Given the description of an element on the screen output the (x, y) to click on. 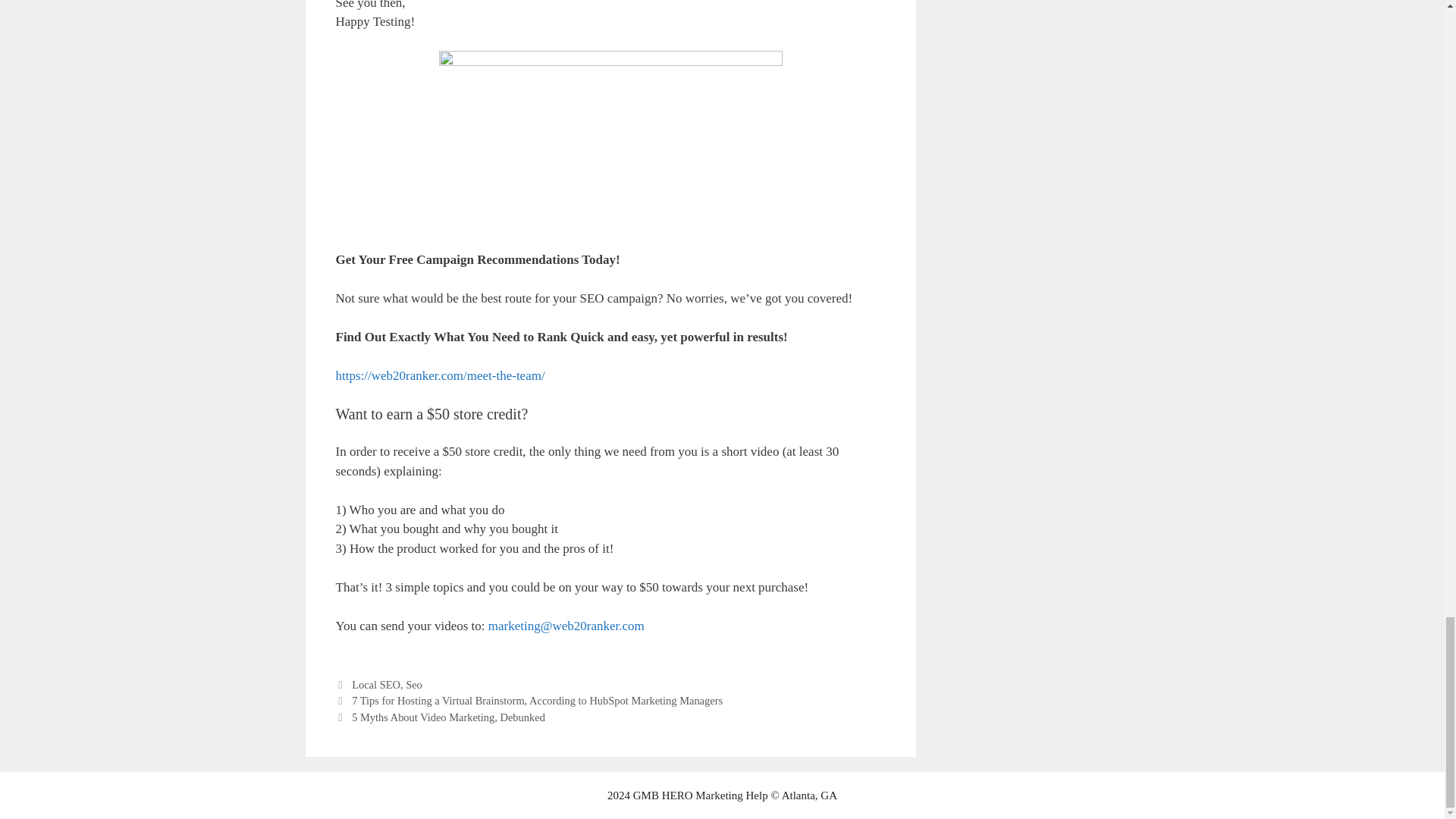
Seo (414, 684)
5 Myths About Video Marketing, Debunked (448, 717)
Marketing (718, 795)
Local SEO (376, 684)
